Given the description of an element on the screen output the (x, y) to click on. 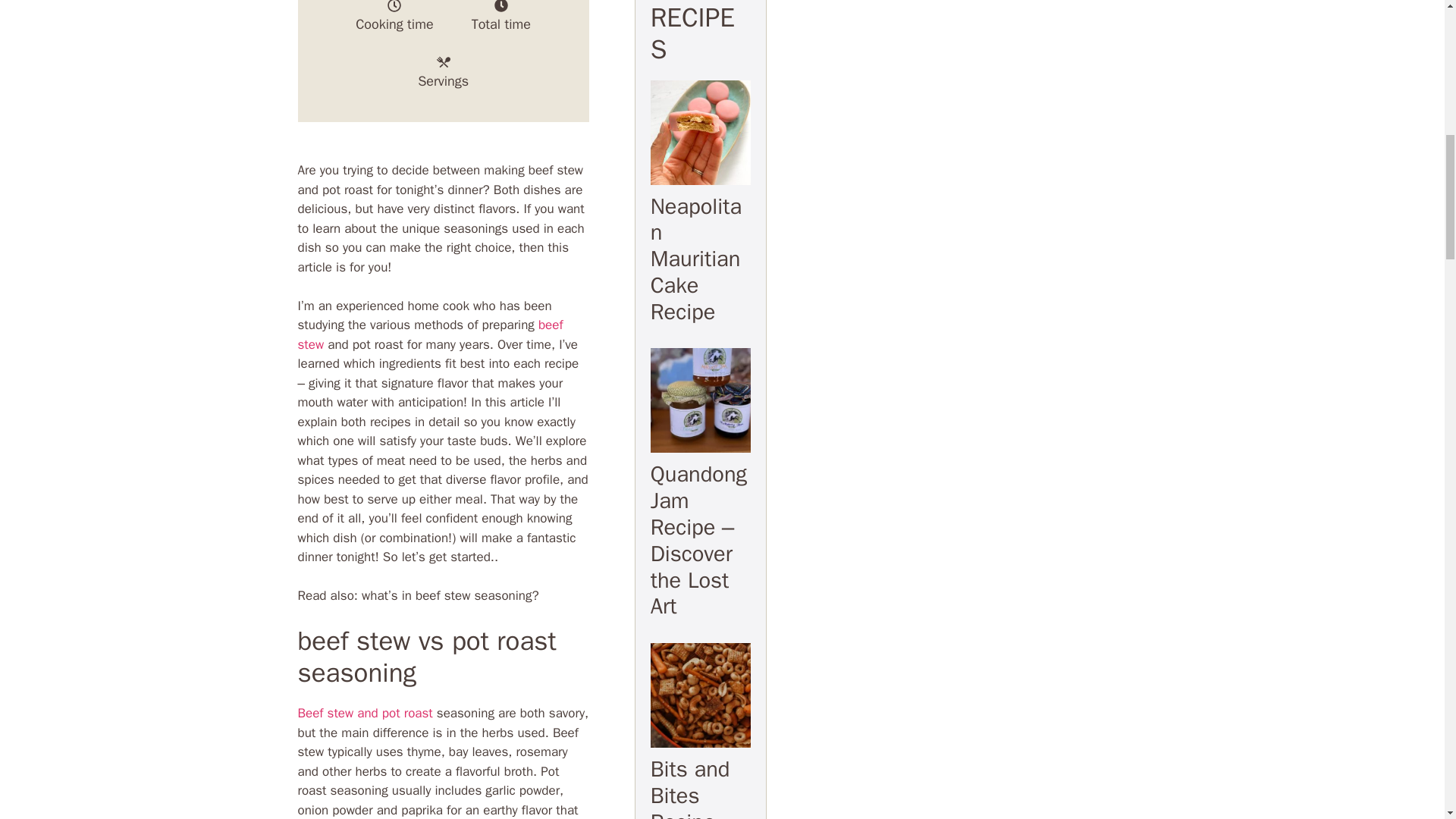
Bits and Bites Recipe (690, 787)
Can Dogs Eat Dinty Moore Beef Stew? What You Need to Know (429, 334)
Beef stew and pot roast (364, 713)
beef stew (429, 334)
Neapolitan Mauritian Cake Recipe (695, 258)
